Given the description of an element on the screen output the (x, y) to click on. 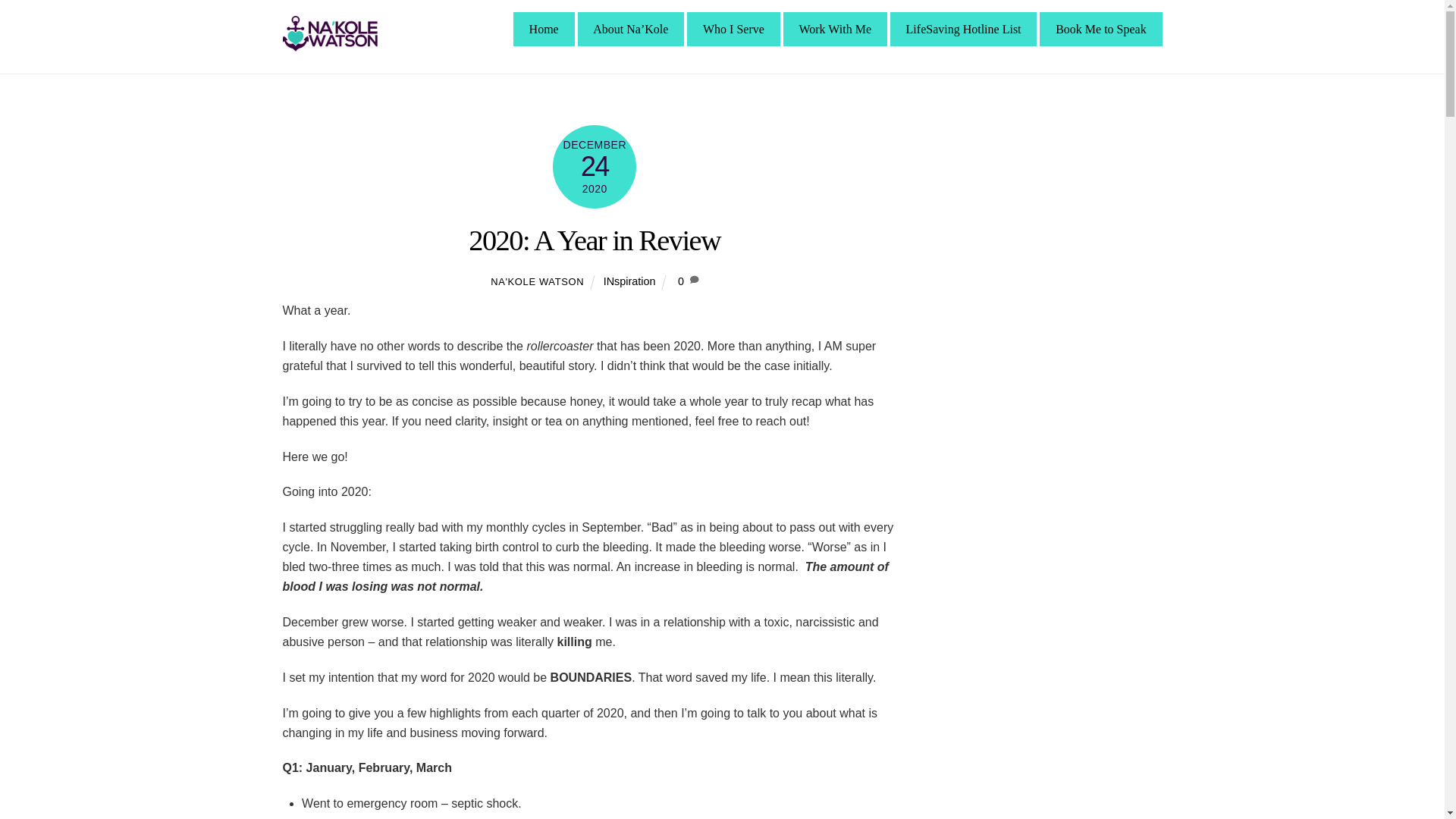
Who I Serve (732, 28)
INspiration (630, 281)
LifeSaving Hotline List (962, 28)
Home (544, 28)
NW LOGO (329, 33)
2020: A Year in Review (594, 240)
Na'Kole Watson (329, 44)
NA'KOLE WATSON (536, 281)
Work With Me (834, 28)
Book Me to Speak (1100, 28)
